Given the description of an element on the screen output the (x, y) to click on. 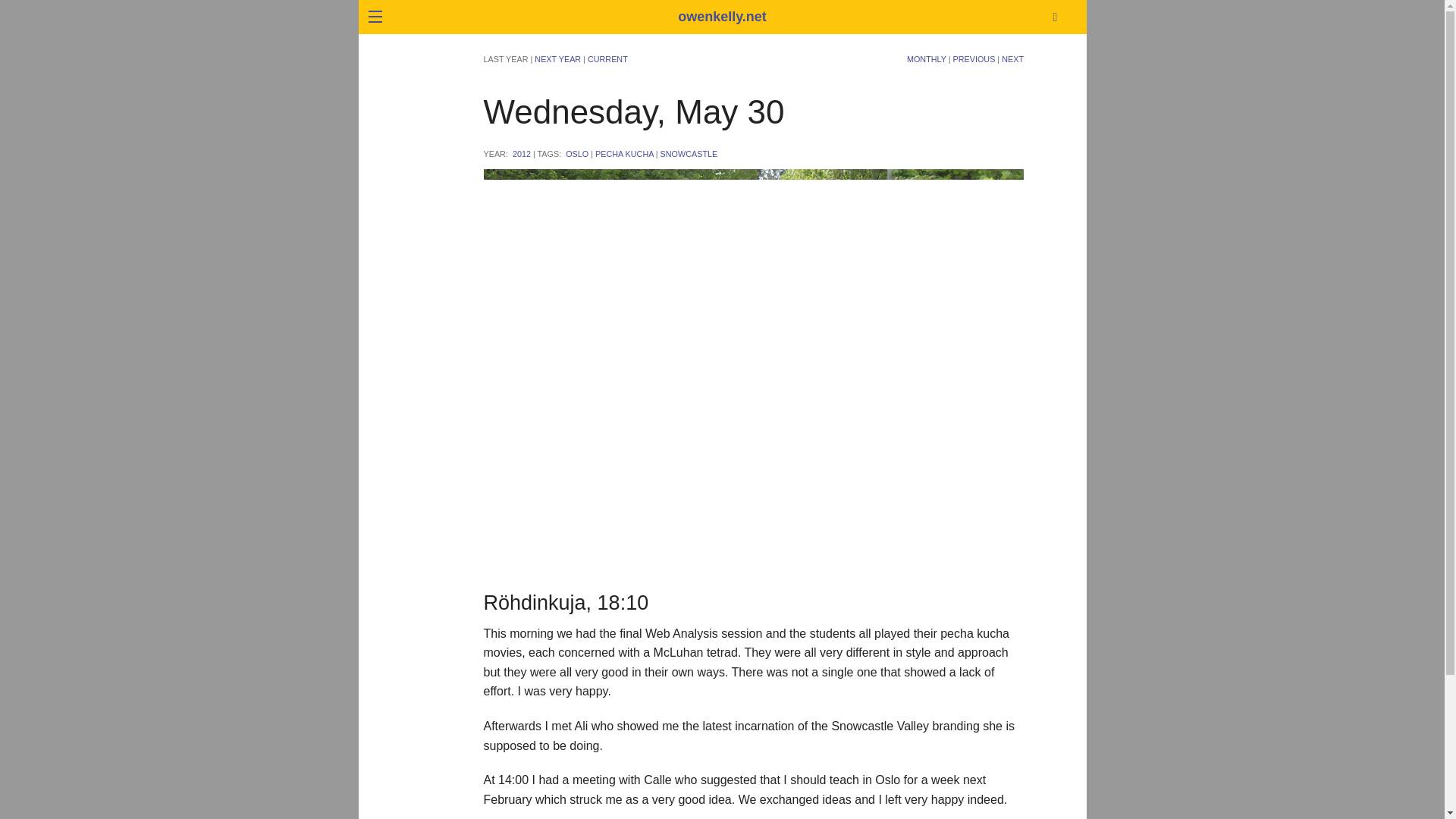
MONTHLY (926, 58)
The Time of Day (263, 217)
Contact me (263, 75)
NEXT (1012, 58)
Projects (263, 181)
About (263, 39)
Notes (263, 145)
Search (1148, 154)
PREVIOUS (974, 58)
CURRENT (607, 58)
